Given the description of an element on the screen output the (x, y) to click on. 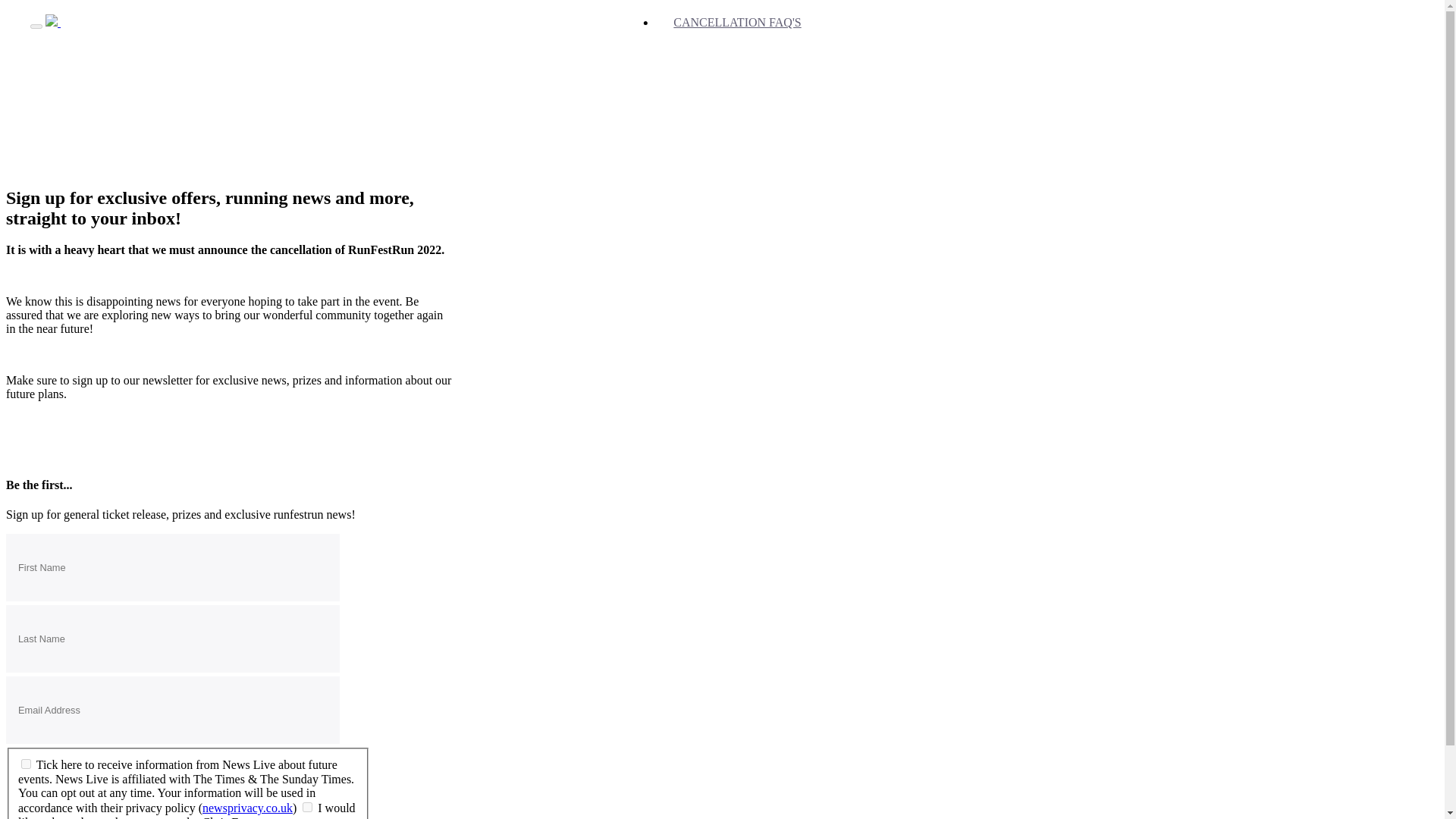
CANCELLATION FAQ'S (736, 22)
EMAIL ADDRESS (172, 709)
FIRST NAME (172, 567)
JOIN OUR MAILING LIST (173, 22)
on (307, 807)
on (25, 764)
LAST NAME (172, 638)
newsprivacy.co.uk (247, 807)
